Given the description of an element on the screen output the (x, y) to click on. 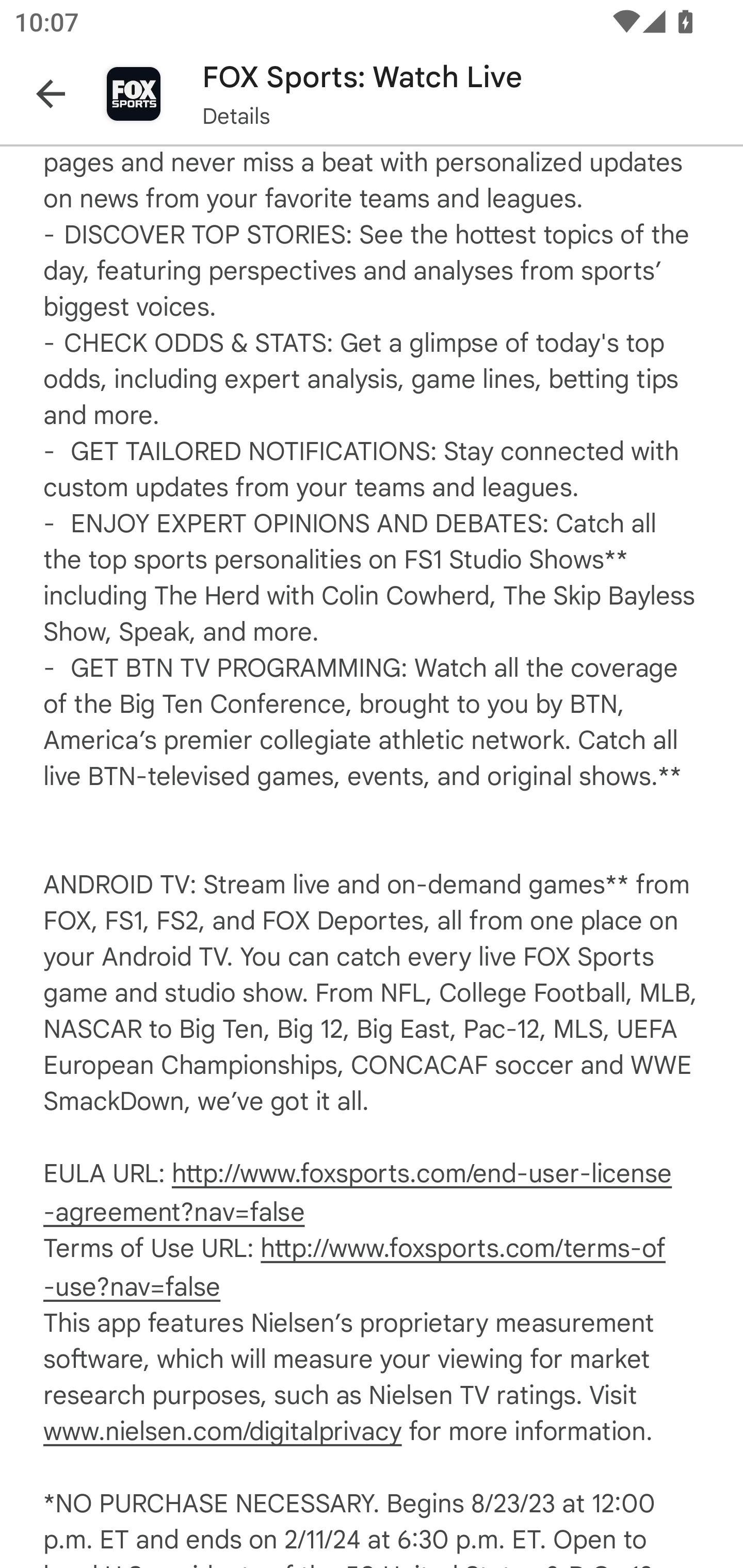
Navigate up (50, 93)
